Given the description of an element on the screen output the (x, y) to click on. 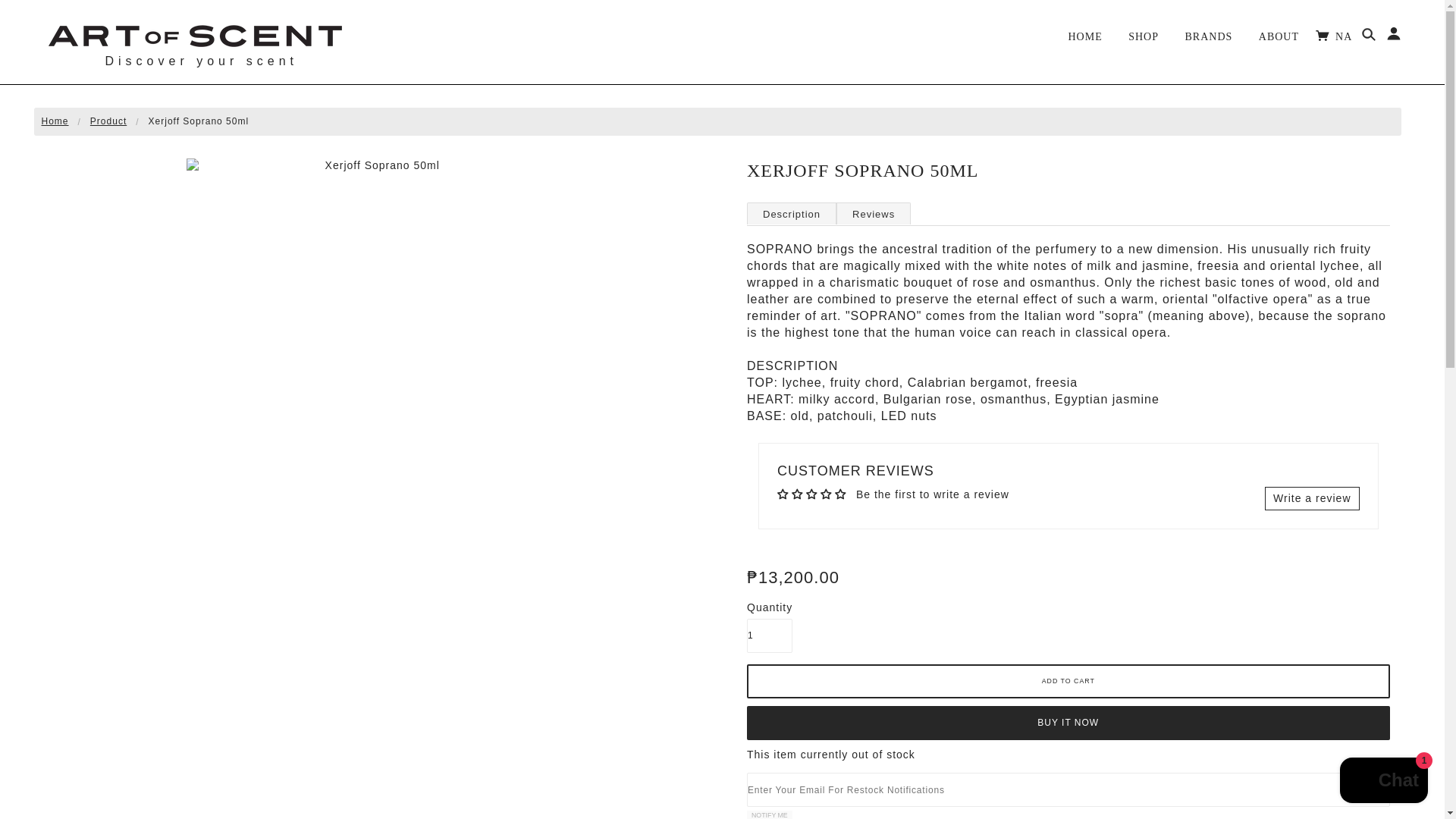
HOME (1085, 31)
Product (108, 121)
Write a review (1311, 498)
Home (54, 121)
Add to Cart (1068, 681)
1 (769, 635)
Reviews (873, 212)
ABOUT (1278, 31)
NA (1355, 35)
SHOP (1143, 31)
Art of Scent (194, 34)
BRANDS (1208, 31)
Description (790, 212)
